Given the description of an element on the screen output the (x, y) to click on. 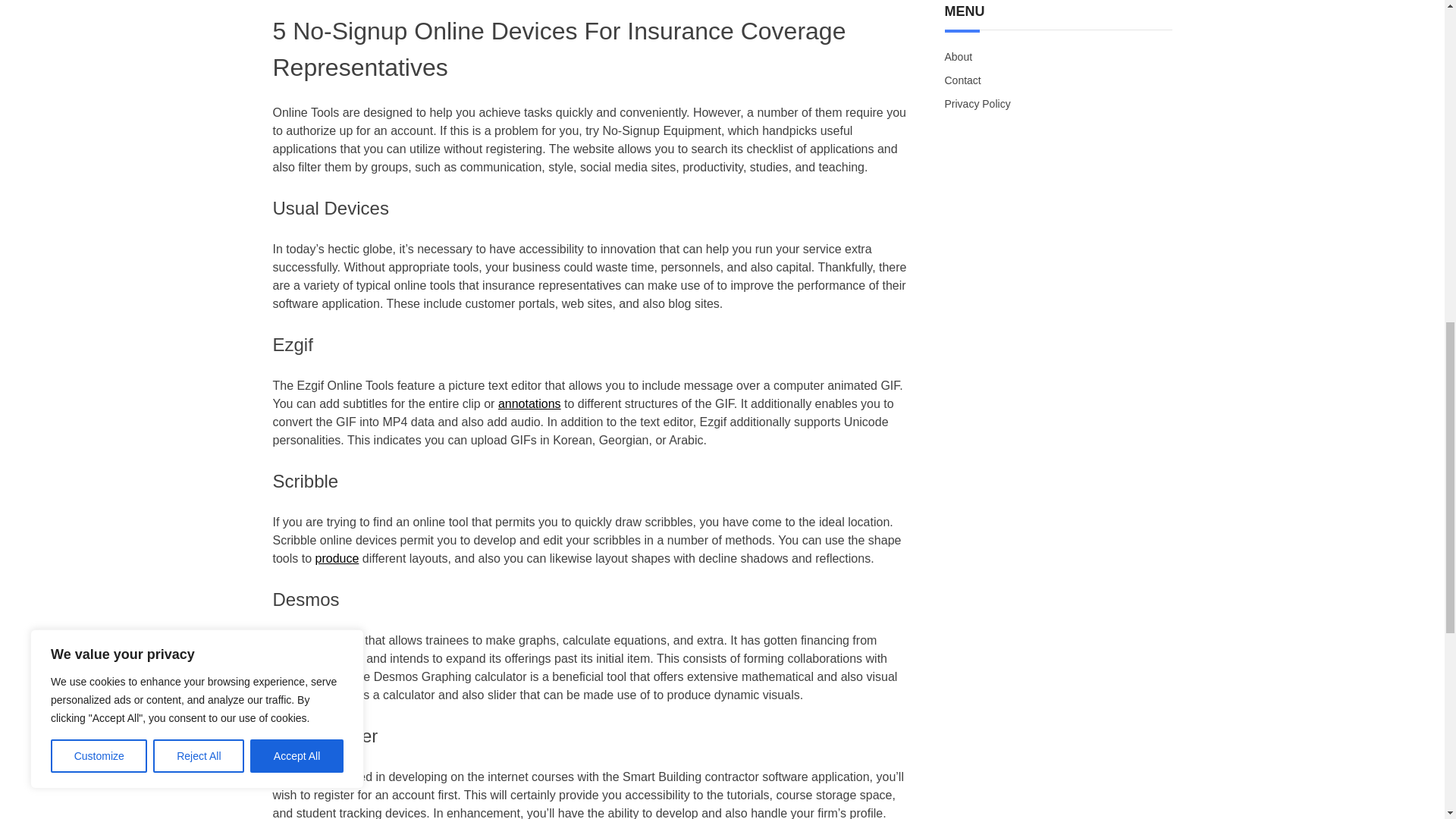
produce (337, 558)
annotations (528, 403)
